Given the description of an element on the screen output the (x, y) to click on. 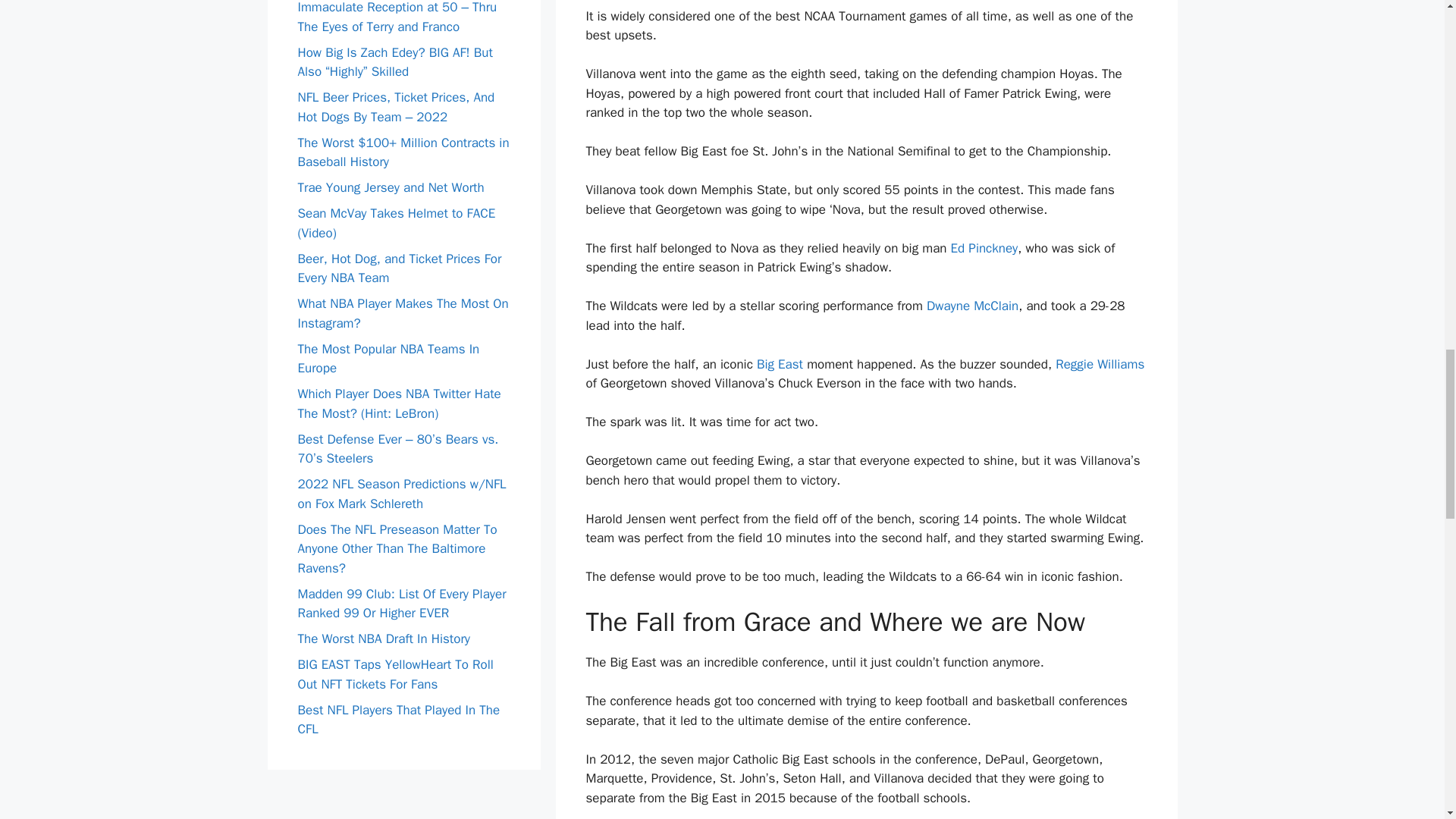
Dwayne McClain (971, 305)
Reggie Williams (1099, 364)
Big East (780, 364)
Ed Pinckney (983, 248)
